Given the description of an element on the screen output the (x, y) to click on. 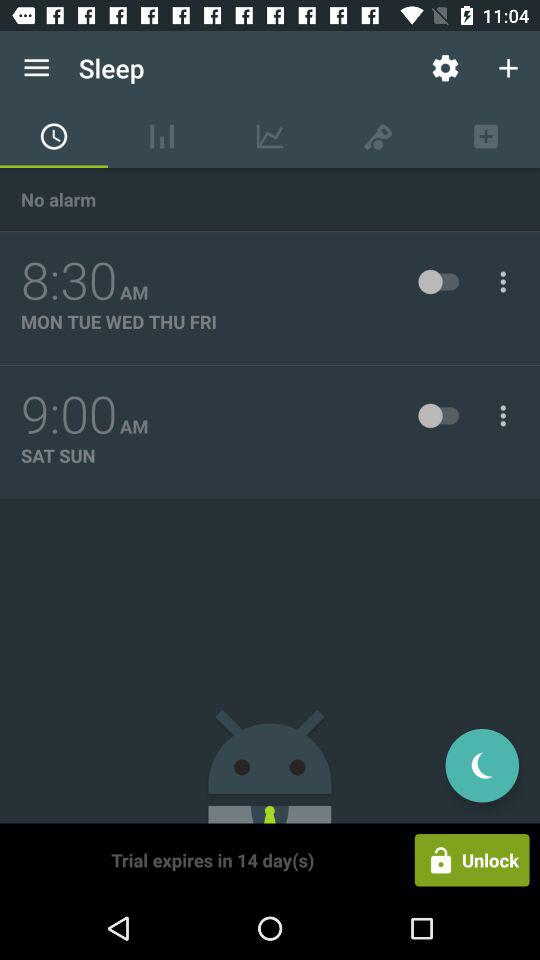
turn on the item next to the am item (69, 281)
